Given the description of an element on the screen output the (x, y) to click on. 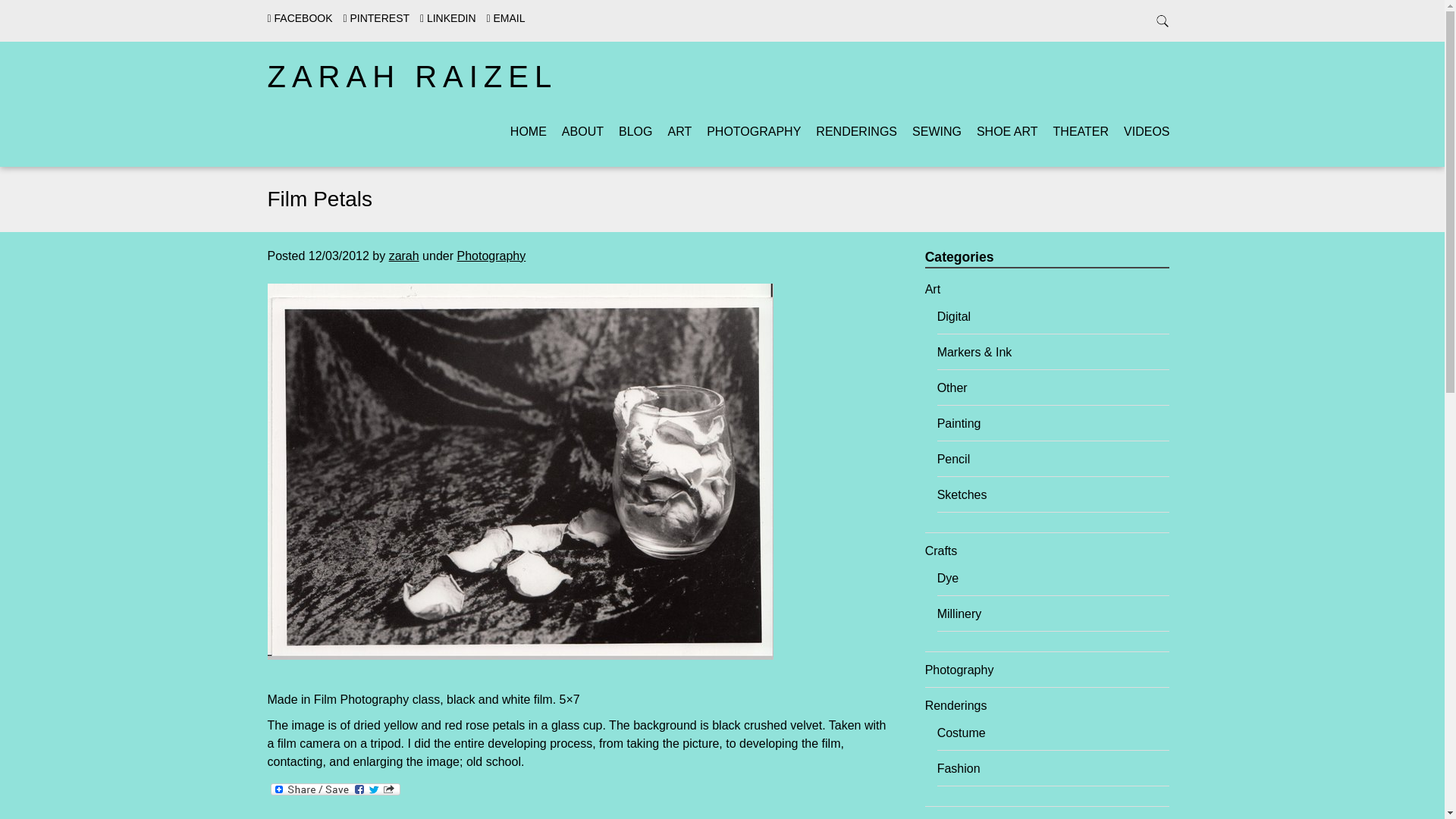
ZARAH RAIZEL (411, 76)
LINKEDIN (448, 18)
Digital (954, 316)
BLOG (635, 131)
Other (952, 387)
Dye (947, 577)
THEATER (1080, 131)
Sketches (962, 494)
Pencil (954, 459)
RENDERINGS (855, 131)
HOME (529, 131)
VIDEOS (1146, 131)
Search (30, 14)
PINTEREST (375, 18)
Millinery (959, 613)
